Given the description of an element on the screen output the (x, y) to click on. 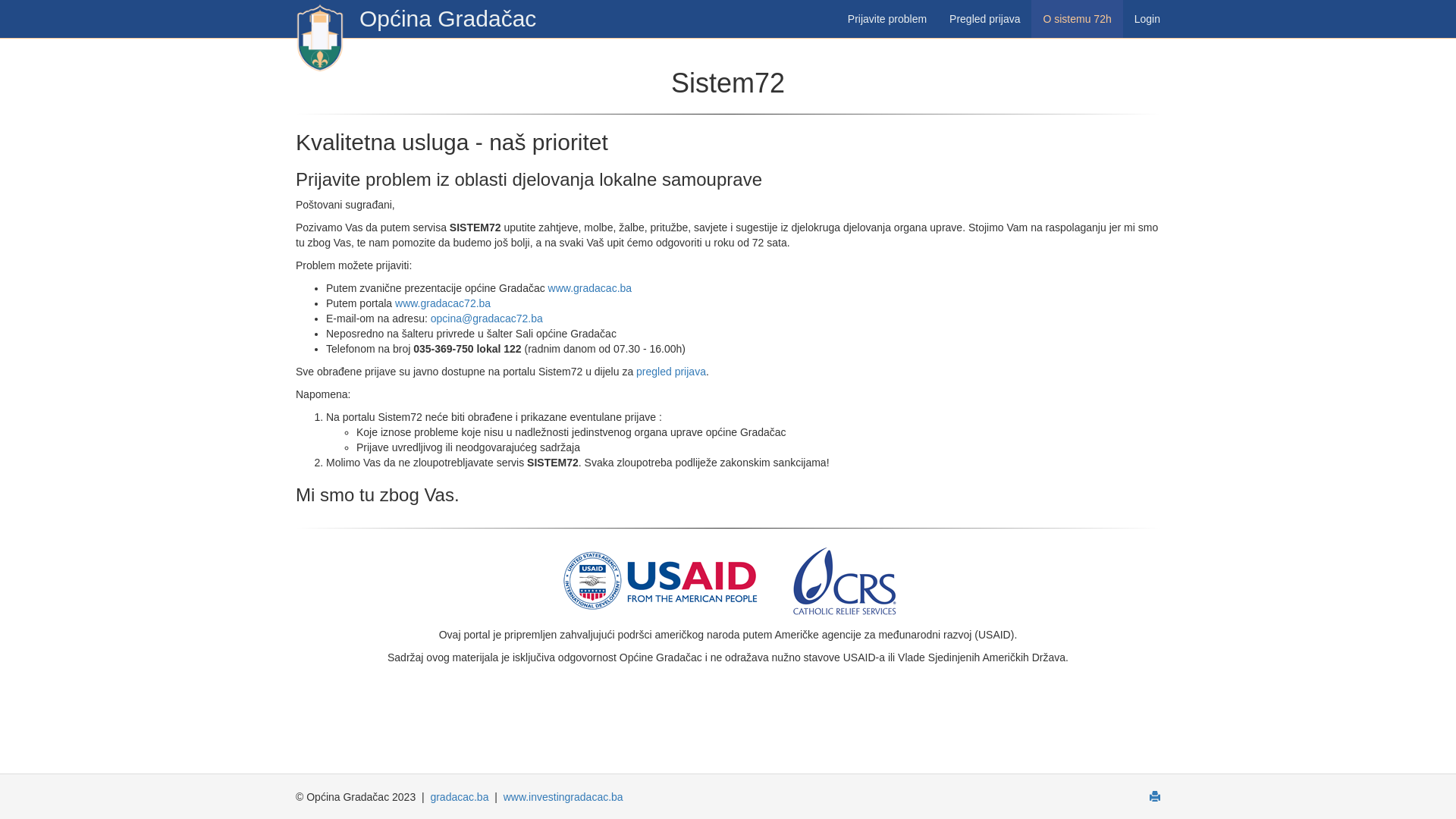
O sistemu 72h Element type: text (1076, 18)
opcina@gradacac72.ba Element type: text (486, 318)
Login Element type: text (1147, 18)
Prijavite problem Element type: text (887, 18)
www.gradacac.ba Element type: text (590, 288)
www.gradacac72.ba Element type: text (442, 303)
gradacac.ba Element type: text (458, 796)
Pregled prijava Element type: text (984, 18)
www.investingradacac.ba Element type: text (563, 796)
pregled prijava Element type: text (671, 371)
